Given the description of an element on the screen output the (x, y) to click on. 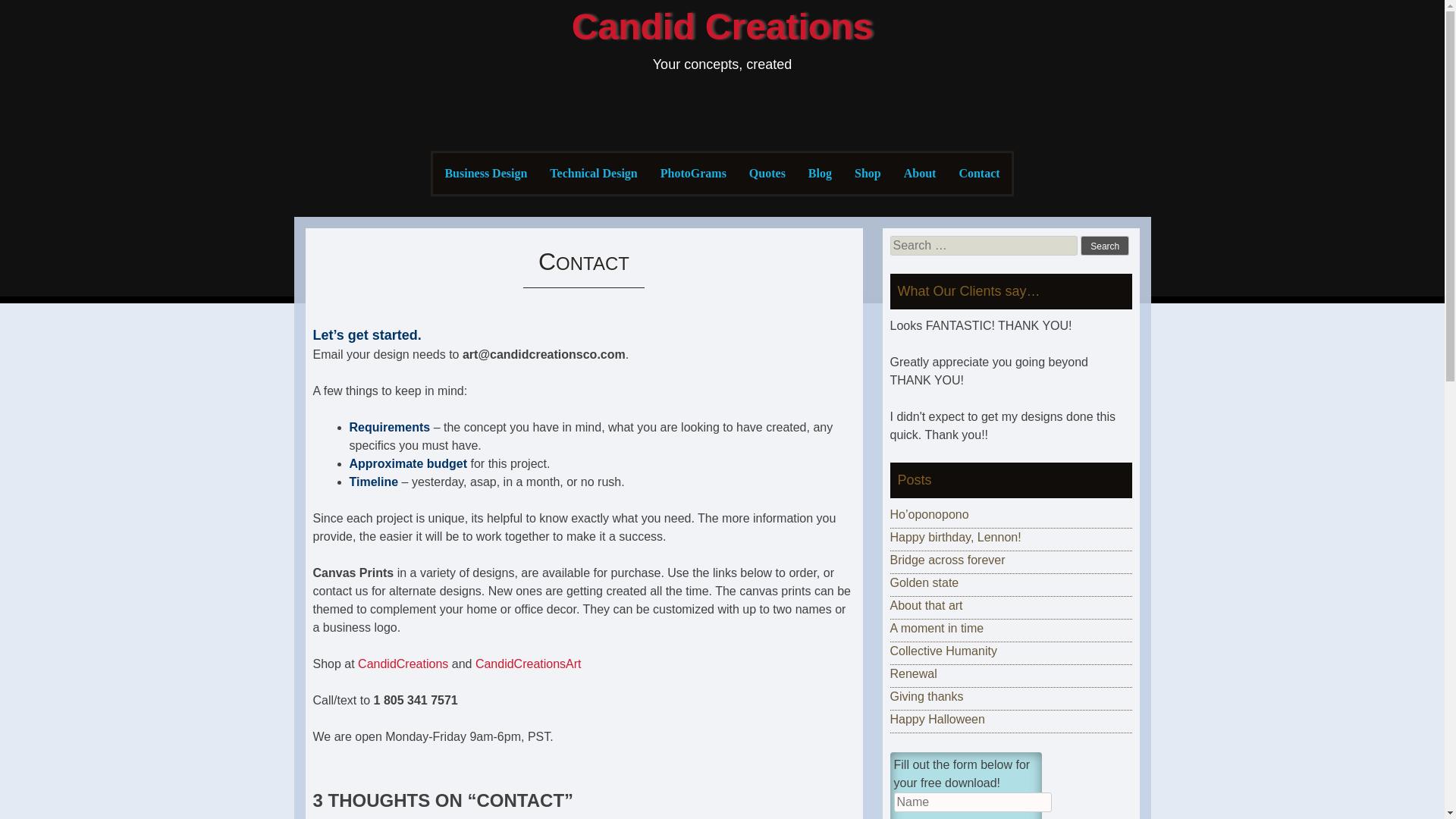
Bridge across forever (947, 559)
Shop (867, 173)
Blog (819, 173)
Technical Design (592, 173)
Search (1104, 245)
Quotes (767, 173)
About (919, 173)
Renewal (913, 673)
Search (1104, 245)
CandidCreationsArt (528, 663)
